Given the description of an element on the screen output the (x, y) to click on. 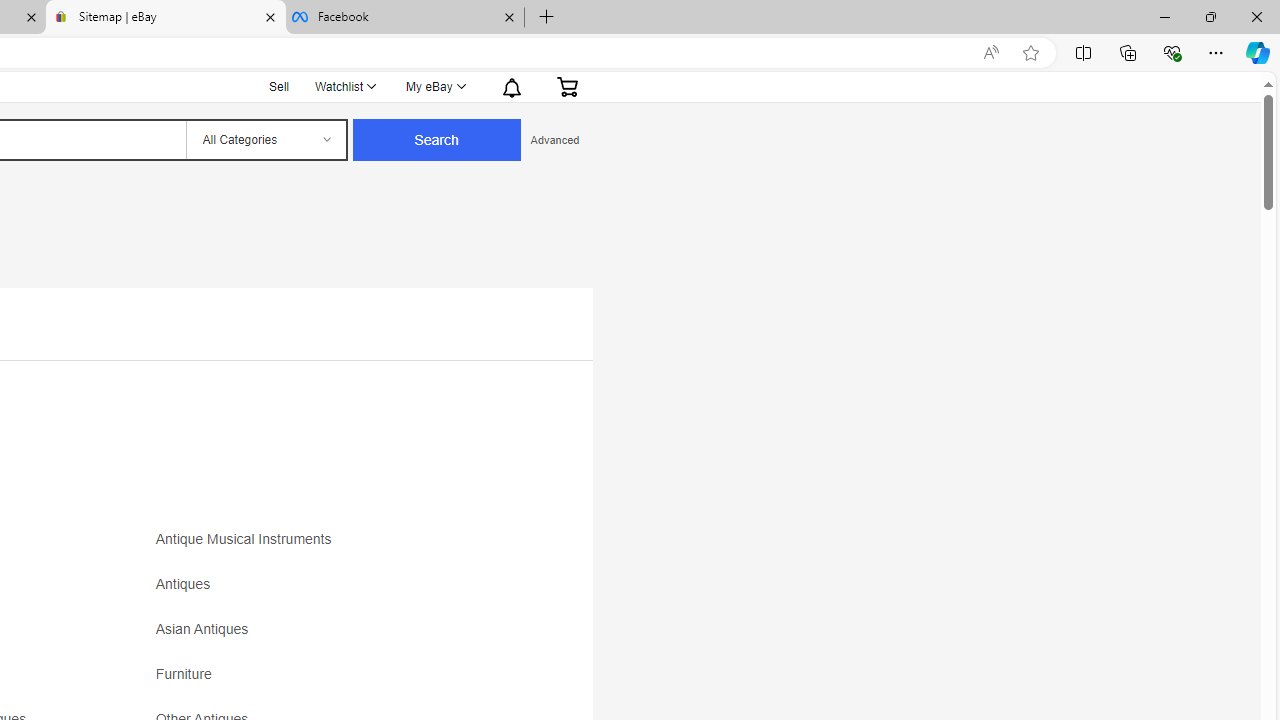
Copilot (Ctrl+Shift+.) (1258, 52)
Minimize (1164, 16)
My eBayExpand My eBay (434, 86)
Sitemap | eBay (166, 17)
Read aloud this page (Ctrl+Shift+U) (991, 53)
WatchlistExpand Watch List (344, 86)
Antiques (187, 583)
Facebook (404, 17)
Collections (1128, 52)
Watchlist (344, 86)
Restore (1210, 16)
Close tab (509, 16)
Asian Antiques (206, 629)
Antique Musical Instruments (247, 539)
Browser essentials (1171, 52)
